Given the description of an element on the screen output the (x, y) to click on. 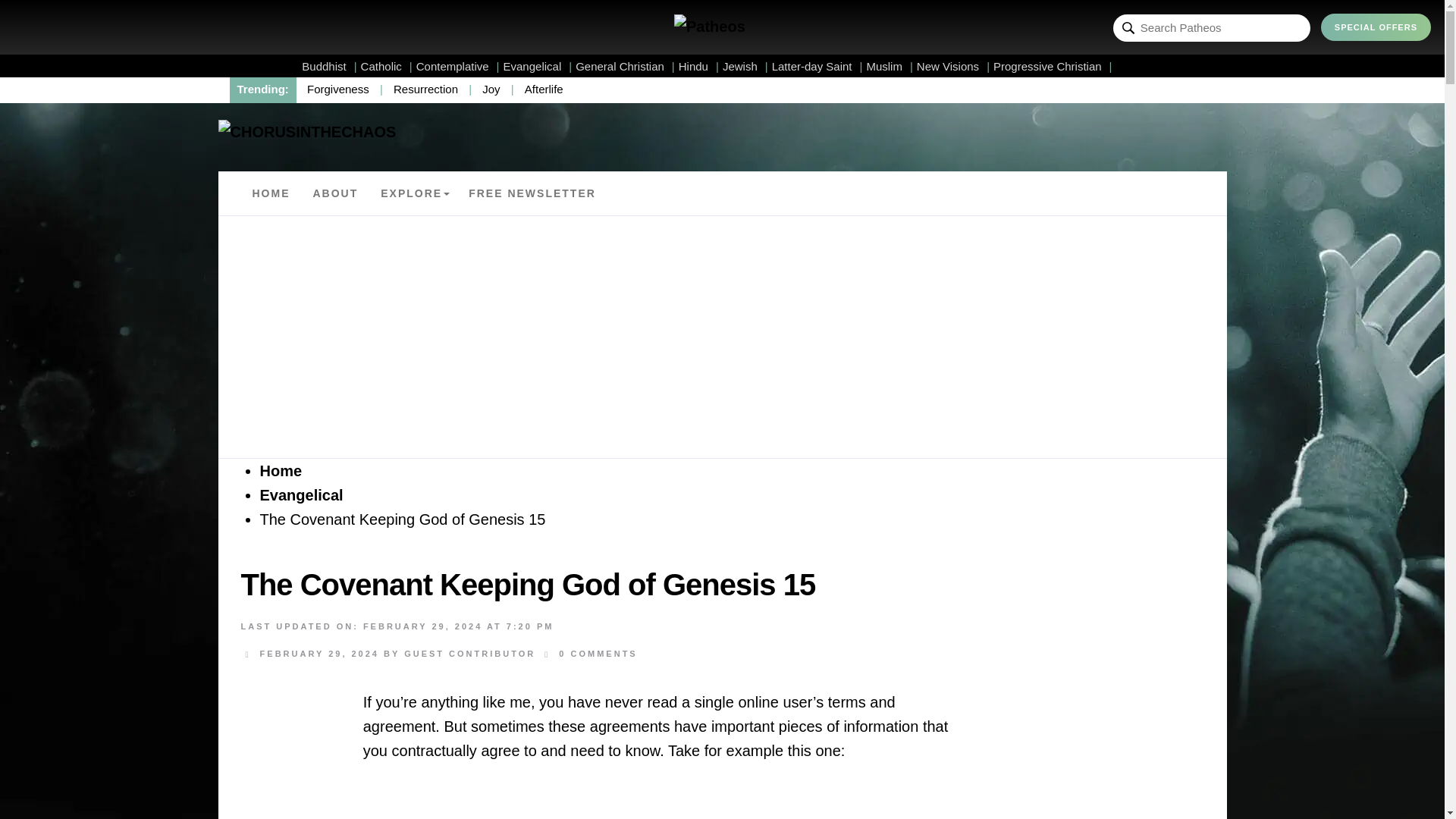
SPECIAL OFFERS (1375, 26)
Contemplative (457, 65)
Evangelical (537, 65)
Buddhist (328, 65)
General Christian (625, 65)
Muslim (889, 65)
Catholic (386, 65)
Hindu (698, 65)
Latter-day Saint (817, 65)
Jewish (745, 65)
